Given the description of an element on the screen output the (x, y) to click on. 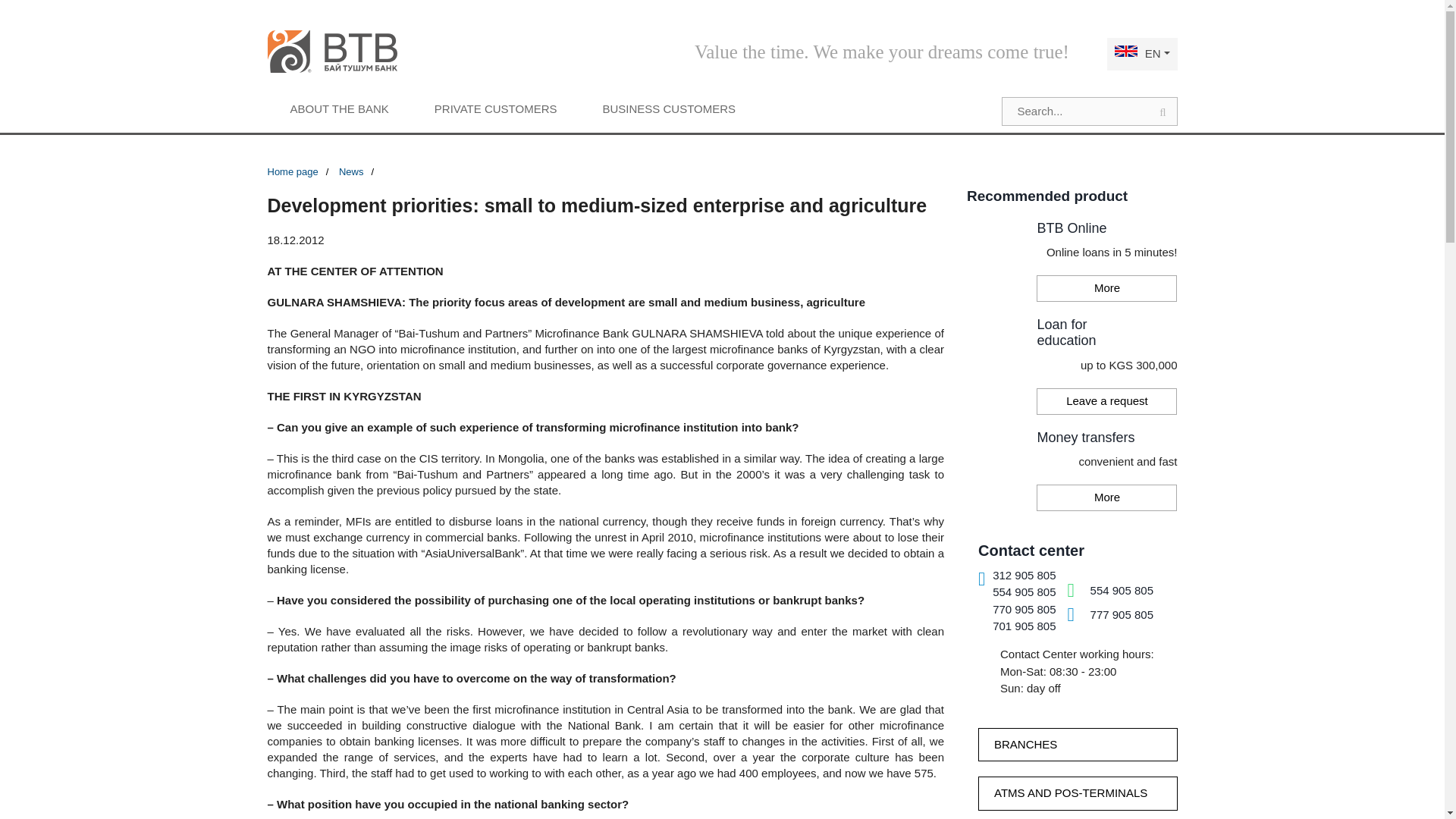
PRIVATE CUSTOMERS (495, 108)
Branches (1077, 745)
BUSINESS CUSTOMERS (668, 108)
Home page (301, 172)
About the Bank (338, 108)
EN (1142, 54)
ABOUT THE BANK (338, 108)
ATMs and POS-terminals (1077, 793)
Business customers (668, 108)
Private customers (495, 108)
